Given the description of an element on the screen output the (x, y) to click on. 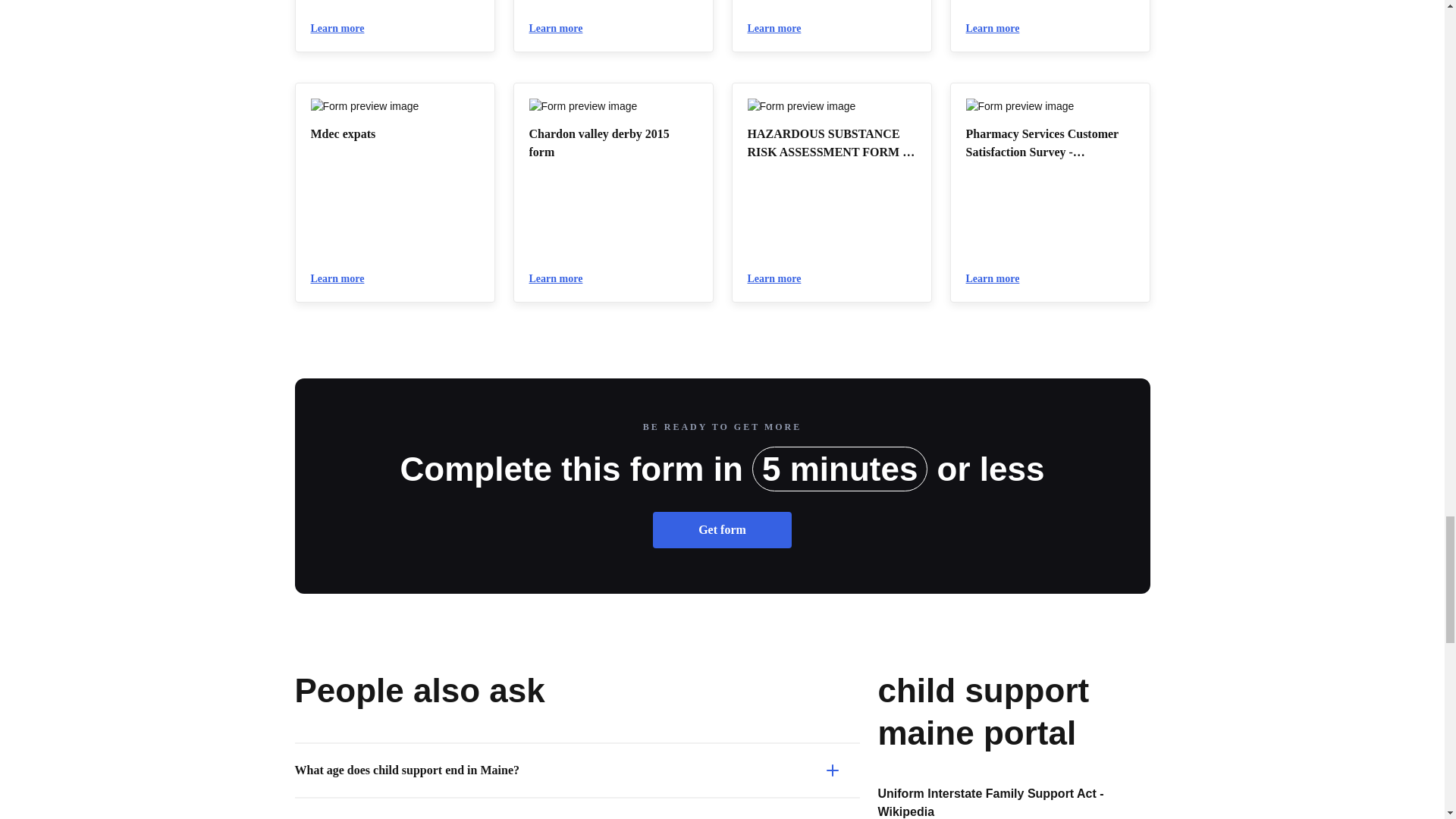
Learn more (562, 278)
Learn more (999, 278)
Learn more (562, 28)
Learn more (344, 278)
Learn more (781, 28)
Learn more (344, 28)
Get form (722, 530)
Learn more (999, 28)
Learn more (781, 278)
